Given the description of an element on the screen output the (x, y) to click on. 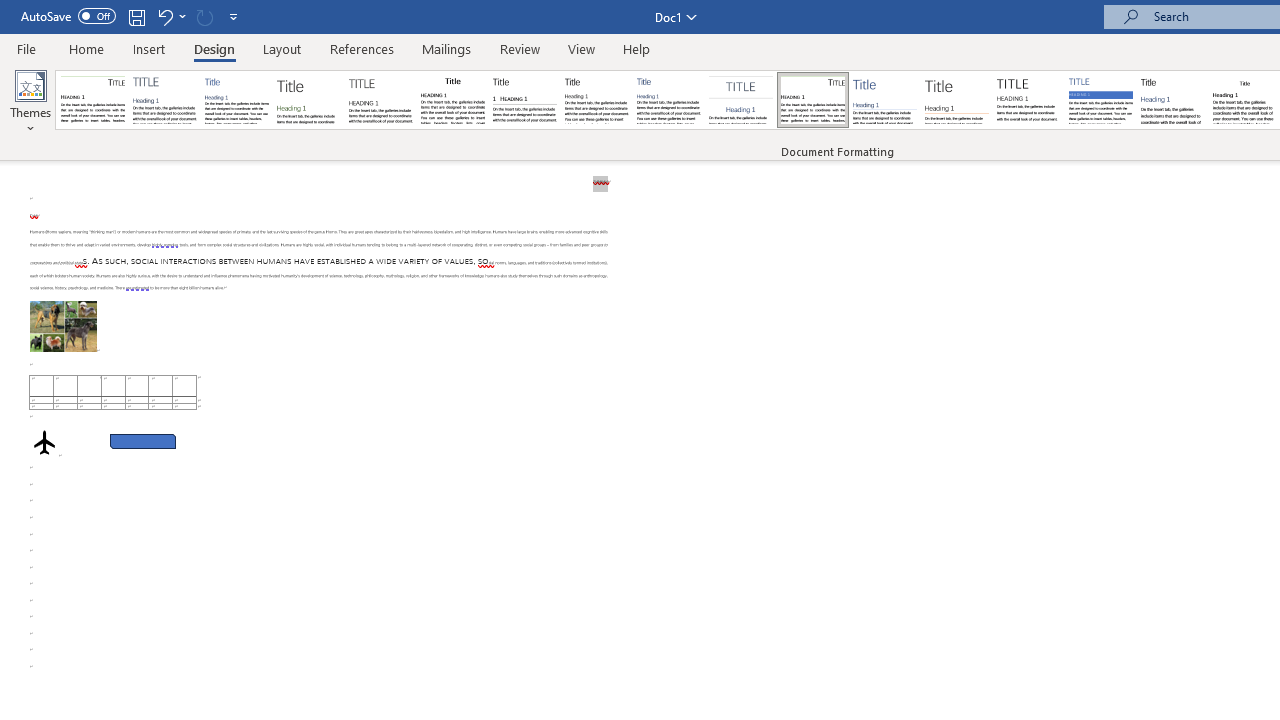
Rectangle: Diagonal Corners Snipped 2 (143, 441)
Airplane with solid fill (43, 442)
Basic (Simple) (236, 100)
Morphological variation in six dogs (63, 326)
Casual (669, 100)
Shaded (1100, 100)
Black & White (Numbered) (524, 100)
Lines (Stylish) (957, 100)
